Given the description of an element on the screen output the (x, y) to click on. 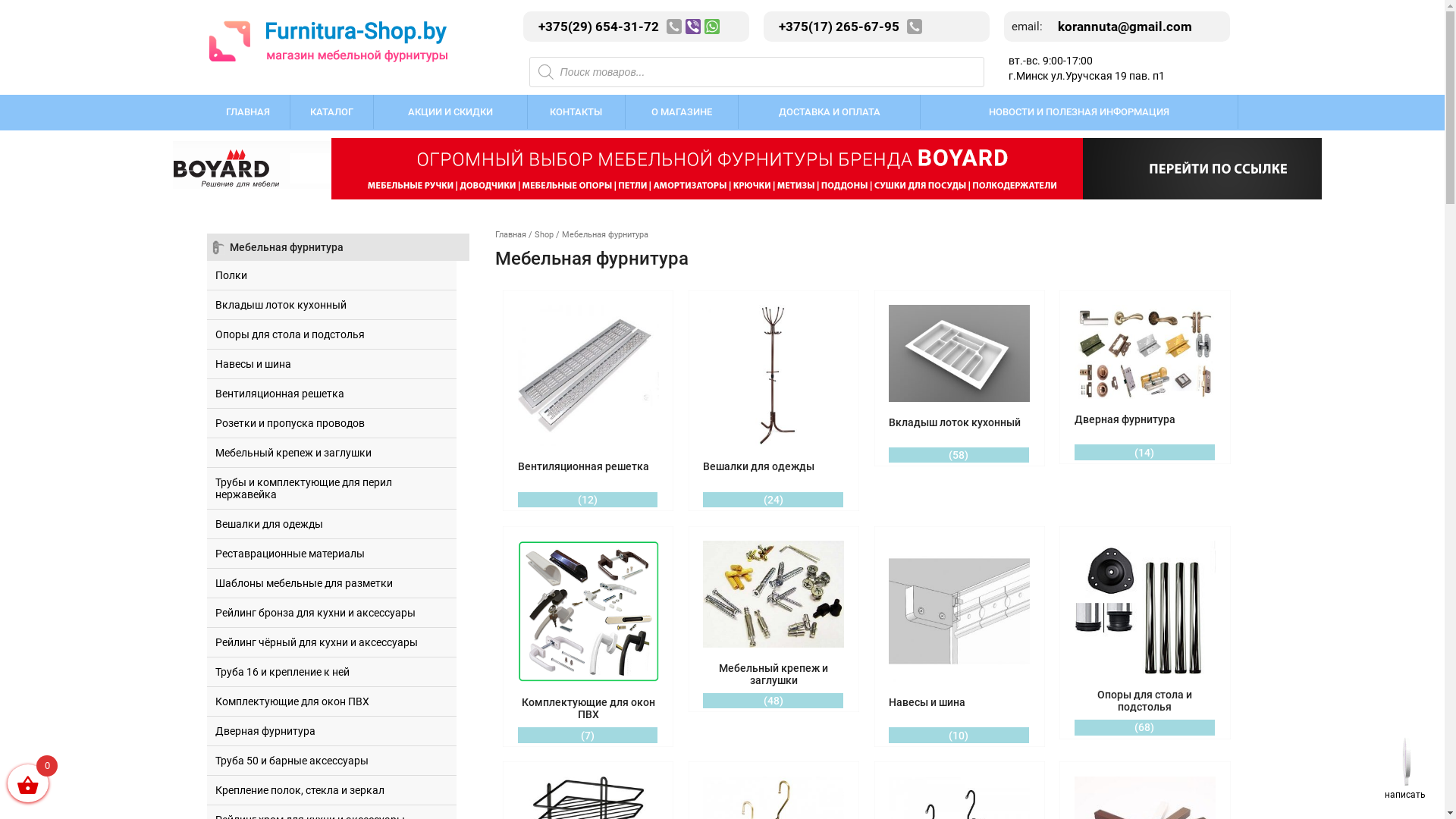
korannuta@gmail.com Element type: text (1120, 26)
+375(29) 654-31-72 Element type: text (594, 26)
Shop Element type: text (543, 234)
+375(17) 265-67-95 Element type: text (834, 26)
